Given the description of an element on the screen output the (x, y) to click on. 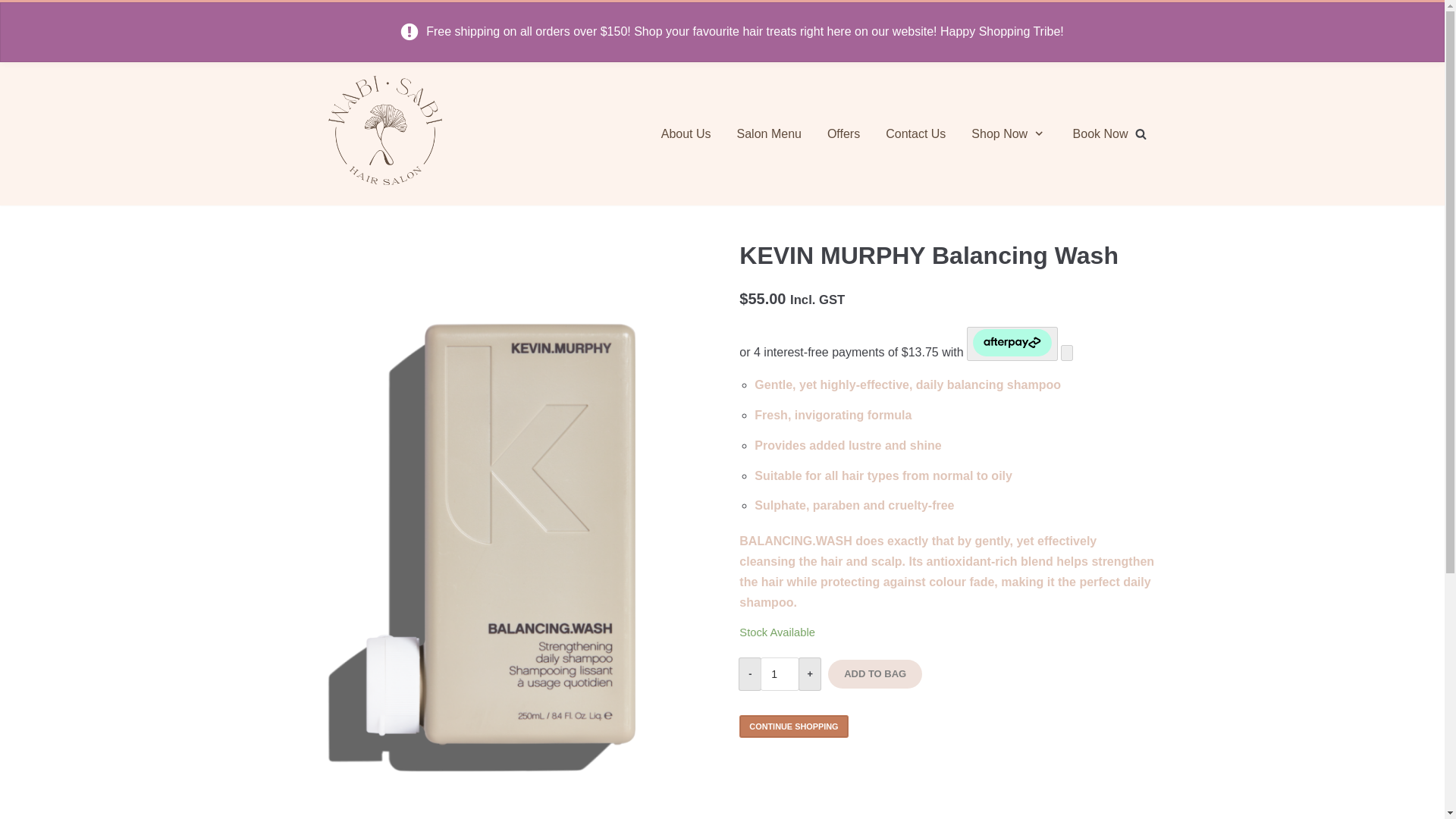
Book Now (1100, 134)
Contact Us (914, 134)
About Us (686, 134)
1 (779, 673)
Wabi Sabi Hair Salon North Shore Auckland (384, 133)
Qty (779, 673)
Search (1235, 409)
Skip to content (15, 7)
Salon Menu (769, 134)
Shop Now (1008, 134)
